Given the description of an element on the screen output the (x, y) to click on. 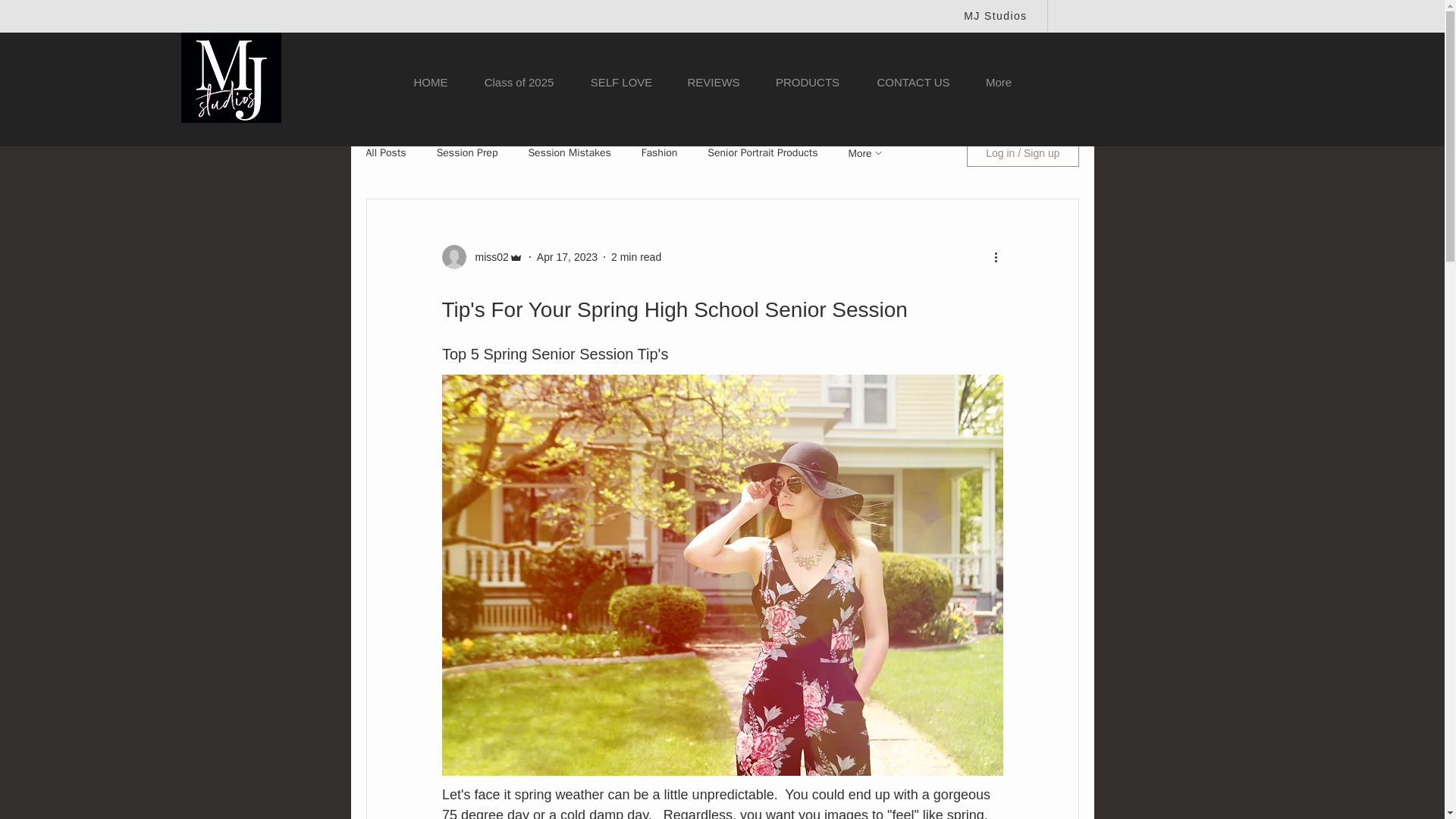
Session Mistakes (568, 152)
miss02 (486, 256)
Web logo 2.jpg (230, 77)
Senior Portrait Products (761, 152)
Fashion (660, 152)
2 min read (636, 256)
All Posts (385, 152)
Apr 17, 2023 (566, 256)
Session Prep (466, 152)
